Given the description of an element on the screen output the (x, y) to click on. 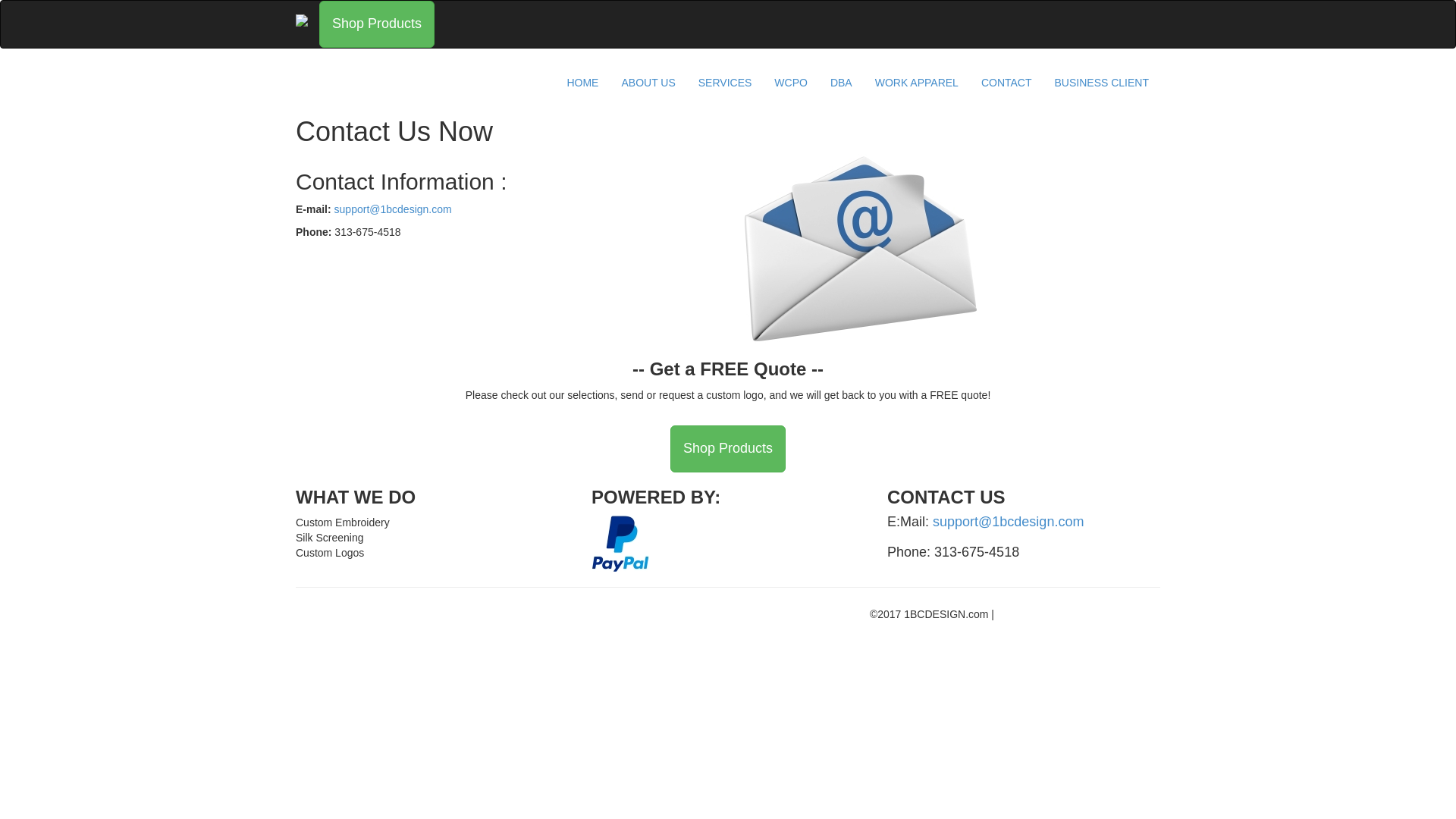
HOME Element type: text (582, 82)
Shop Products Element type: text (727, 448)
CONTACT Element type: text (1006, 82)
Shop Products Element type: text (376, 23)
support@1bcdesign.com Element type: text (392, 209)
DBA Element type: text (841, 82)
WCPO Element type: text (790, 82)
BUSINESS CLIENT Element type: text (1101, 82)
ABOUT US Element type: text (647, 82)
WORK APPAREL Element type: text (916, 82)
Designed By: DoeringDesign.com Element type: text (1076, 614)
SERVICES Element type: text (725, 82)
support@1bcdesign.com Element type: text (1007, 521)
